Given the description of an element on the screen output the (x, y) to click on. 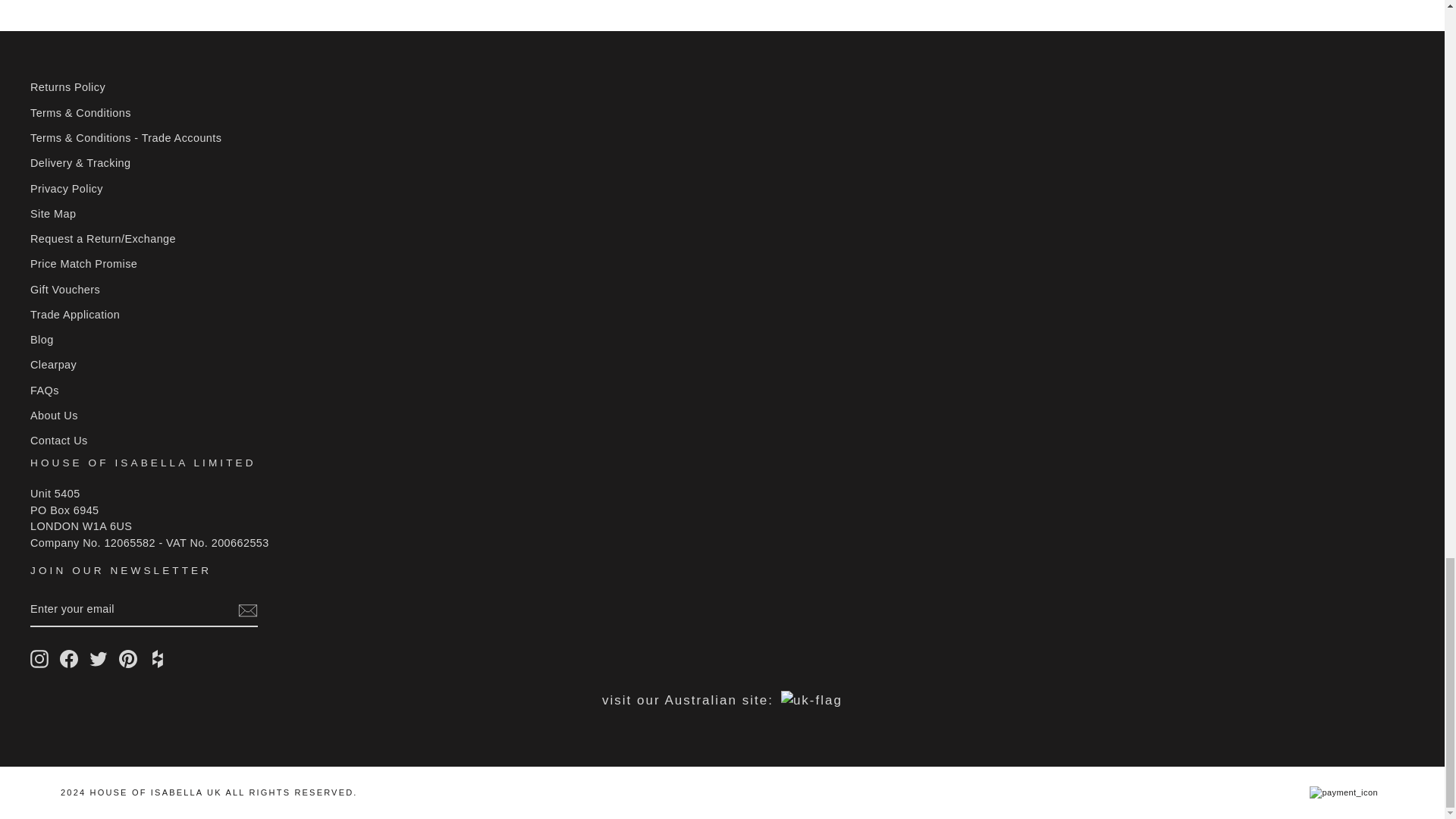
House of Isabella UK on Facebook (68, 659)
House of Isabella UK on Twitter (97, 659)
House of Isabella UK on Pinterest (127, 659)
House of Isabella UK on Instagram (39, 659)
